Given the description of an element on the screen output the (x, y) to click on. 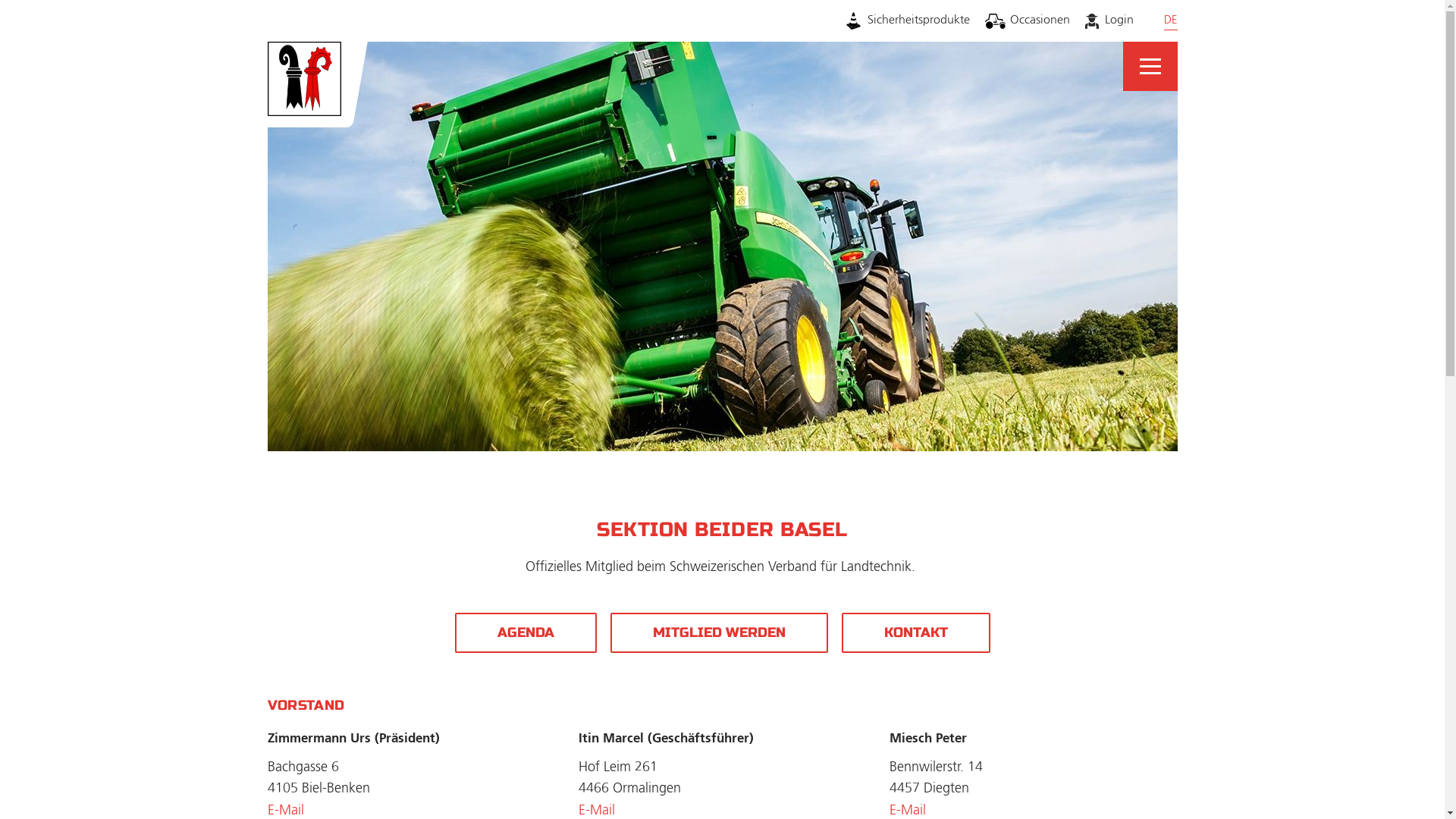
DE Element type: text (1169, 20)
Login Element type: text (1108, 21)
E-Mail Element type: text (906, 810)
Sicherheitsprodukte Element type: text (906, 21)
MITGLIED WERDEN Element type: text (718, 632)
AGENDA Element type: text (525, 632)
E-Mail Element type: text (595, 810)
Occasionen Element type: text (1027, 21)
E-Mail Element type: text (284, 810)
KONTAKT Element type: text (915, 632)
